Given the description of an element on the screen output the (x, y) to click on. 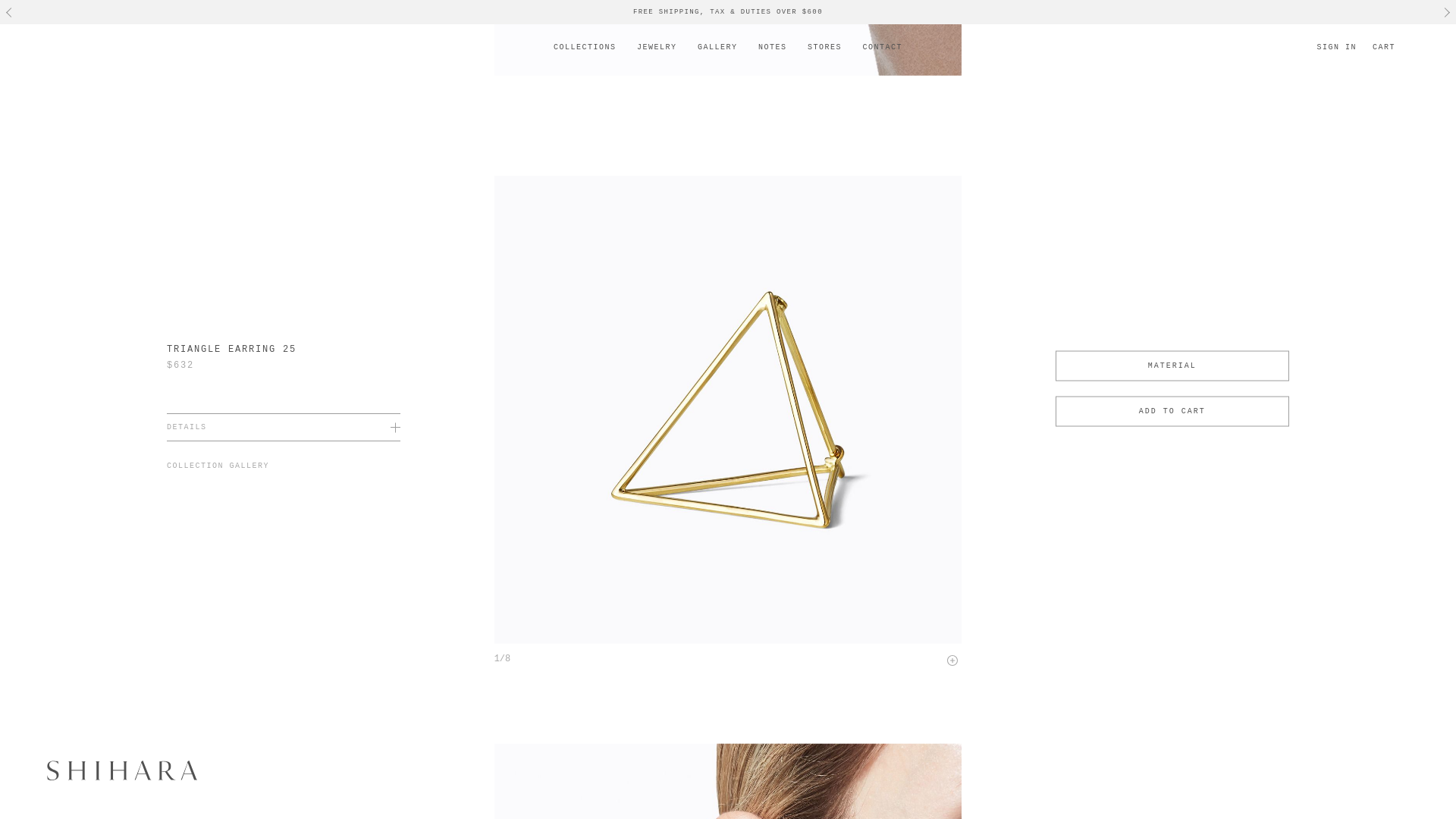
COLLECTIONS (584, 60)
Add to Cart (1171, 410)
Magento Commerce (120, 770)
STORES (824, 60)
GALLERY (717, 60)
JEWELRY (657, 60)
